Given the description of an element on the screen output the (x, y) to click on. 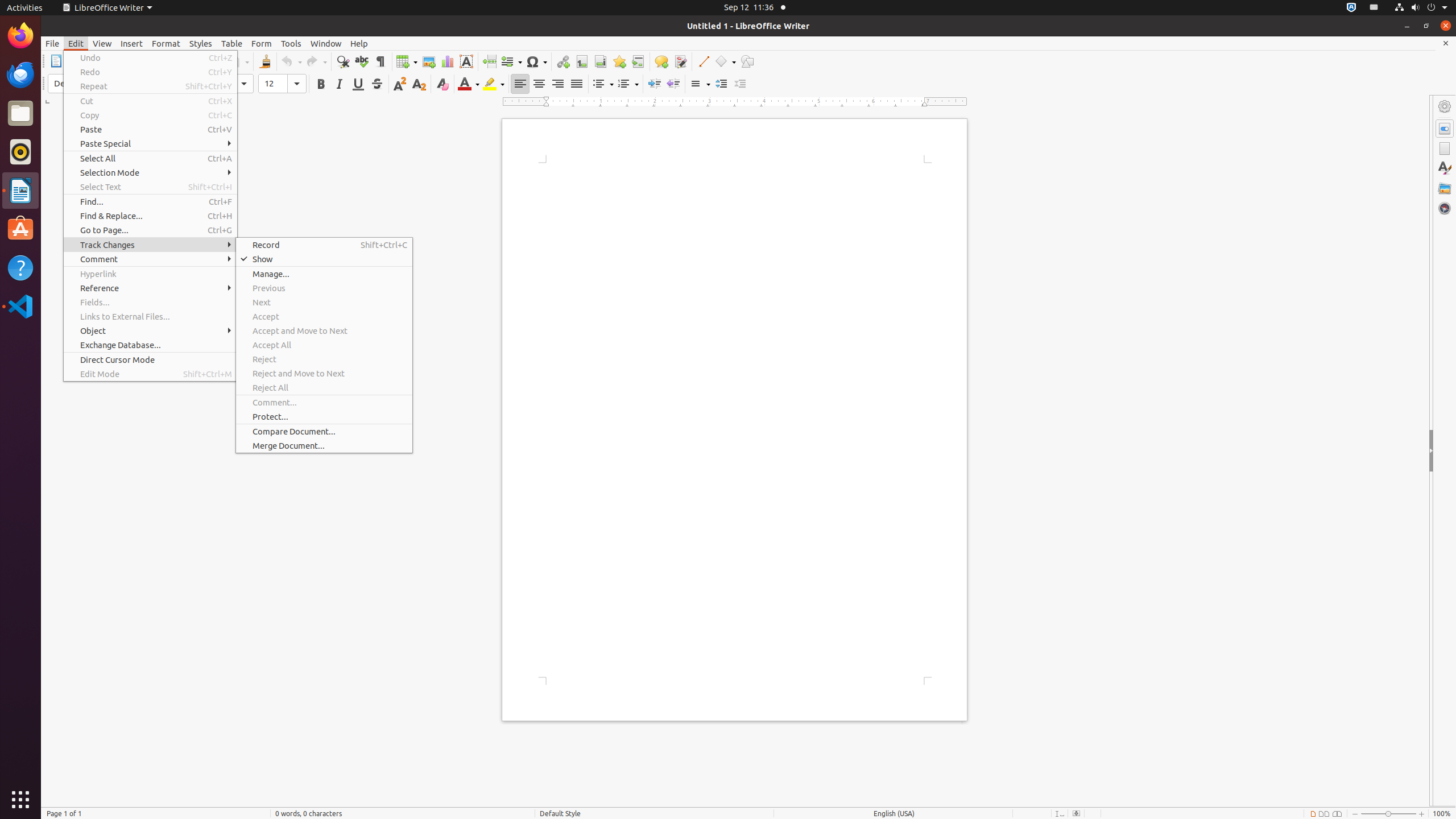
Show Applications Element type: toggle-button (20, 799)
Visual Studio Code Element type: push-button (20, 306)
Hyperlink Element type: menu-item (150, 273)
Accept Element type: menu-item (324, 316)
Spelling Element type: push-button (361, 61)
